Given the description of an element on the screen output the (x, y) to click on. 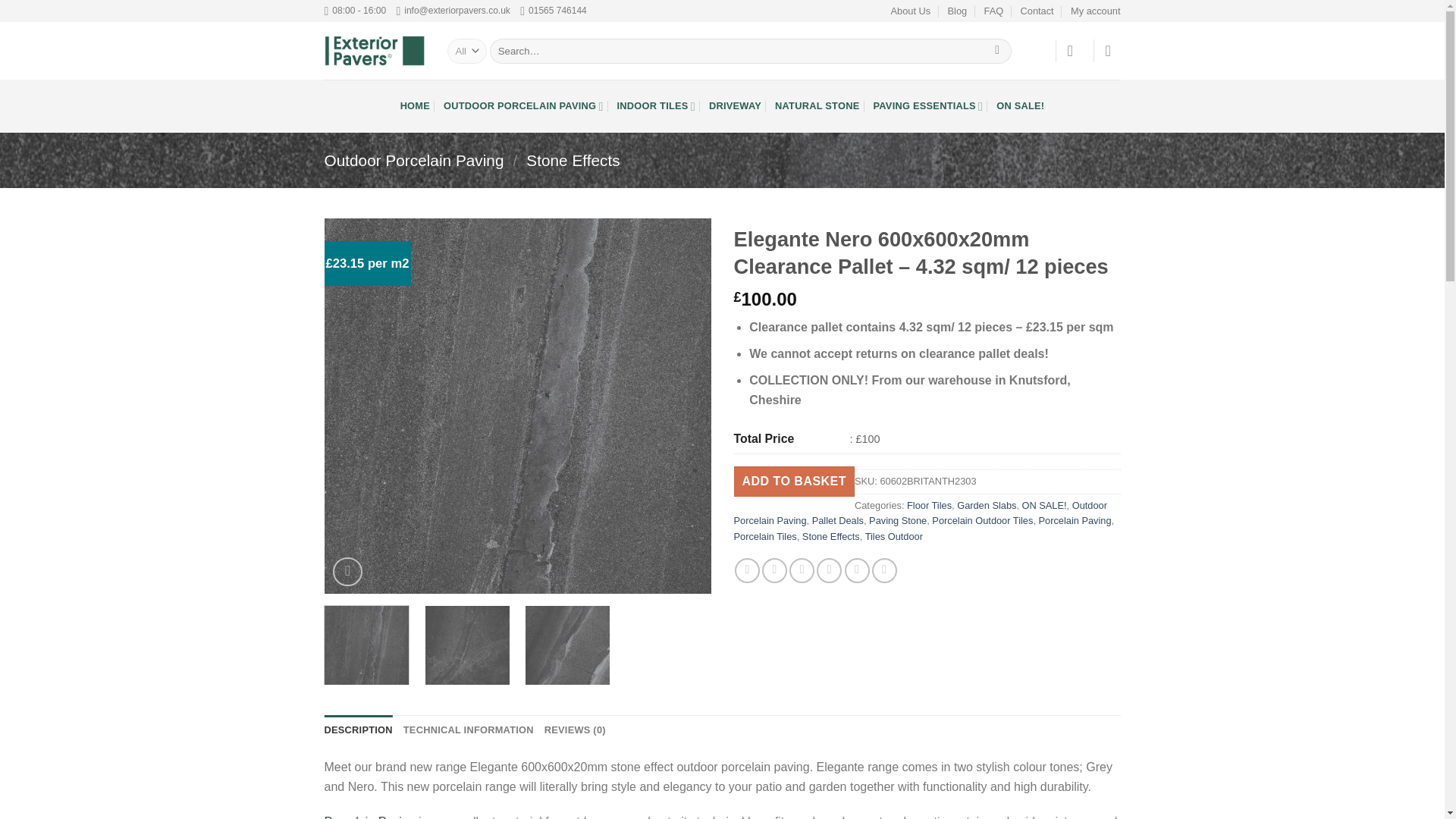
Blog (957, 11)
PAVING ESSENTIALS (927, 105)
DRIVEWAY (735, 105)
Search (997, 50)
OUTDOOR PORCELAIN PAVING (523, 105)
NATURAL STONE (816, 105)
About Us (911, 11)
My account (1094, 11)
INDOOR TILES (656, 105)
01565 746144 (552, 11)
FAQ (994, 11)
08:00 - 16:00 (355, 11)
Contact (1037, 11)
